Given the description of an element on the screen output the (x, y) to click on. 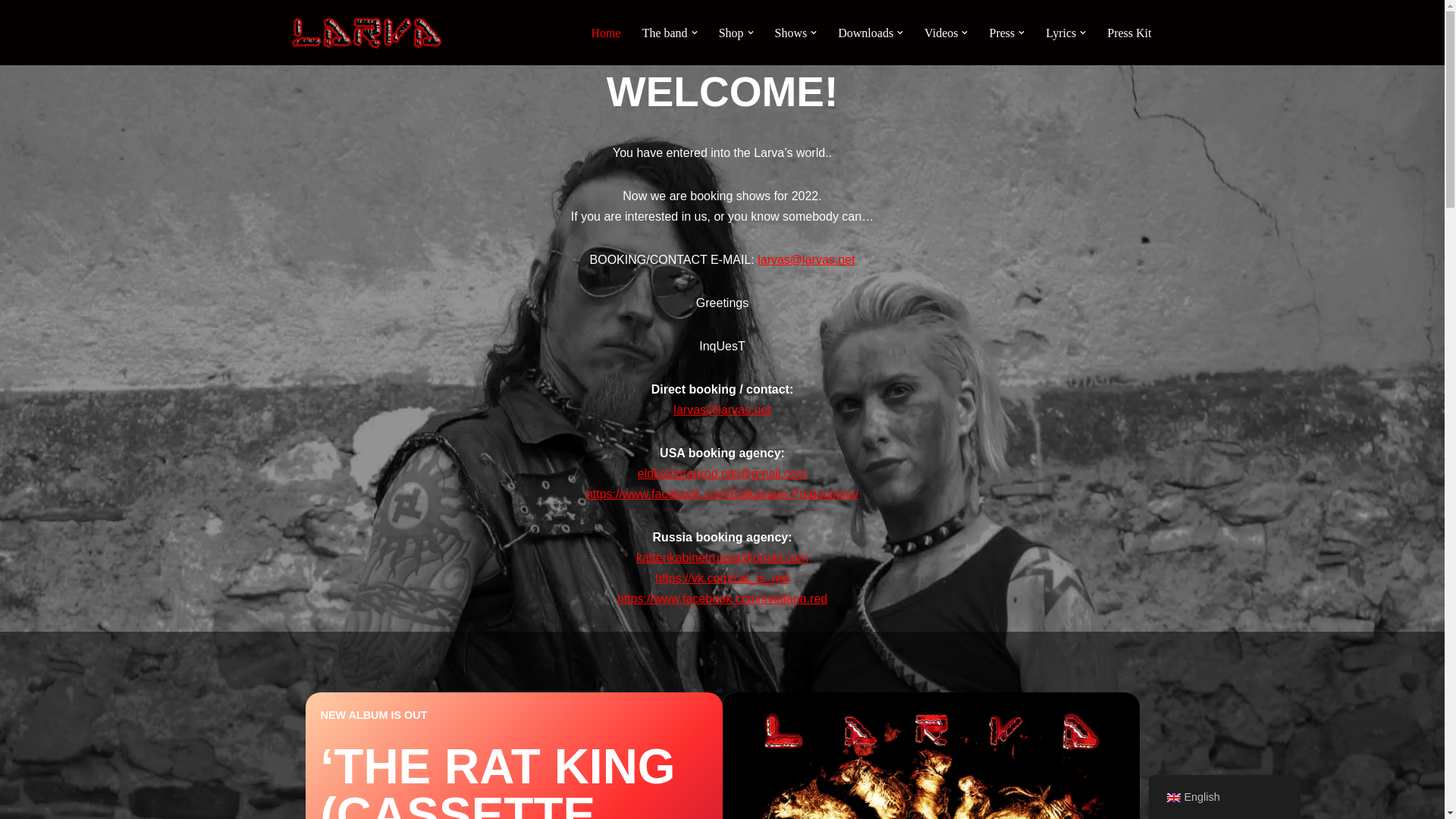
Lyrics Element type: text (1060, 32)
English Element type: hover (1172, 797)
Downloads Element type: text (865, 32)
The band Element type: text (664, 32)
Press Element type: text (1001, 32)
Videos Element type: text (940, 32)
https://vk.com/cat_is_red Element type: text (722, 577)
Home Element type: text (606, 32)
Press Kit Element type: text (1129, 32)
Skip to content Element type: text (11, 31)
English Element type: text (1223, 797)
Shop Element type: text (730, 32)
kattenkabinetrussia@gmail.com Element type: text (722, 556)
Shows Element type: text (791, 32)
larvas@larvas.net Element type: text (721, 409)
eldkastareprod.niki@gmail.com Element type: text (721, 473)
https://www.facebook.com/Eldkastare.Productions/ Element type: text (722, 492)
larvas@larvas.net Element type: text (805, 259)
https://www.facebook.com/svetlana.red Element type: text (722, 597)
